Given the description of an element on the screen output the (x, y) to click on. 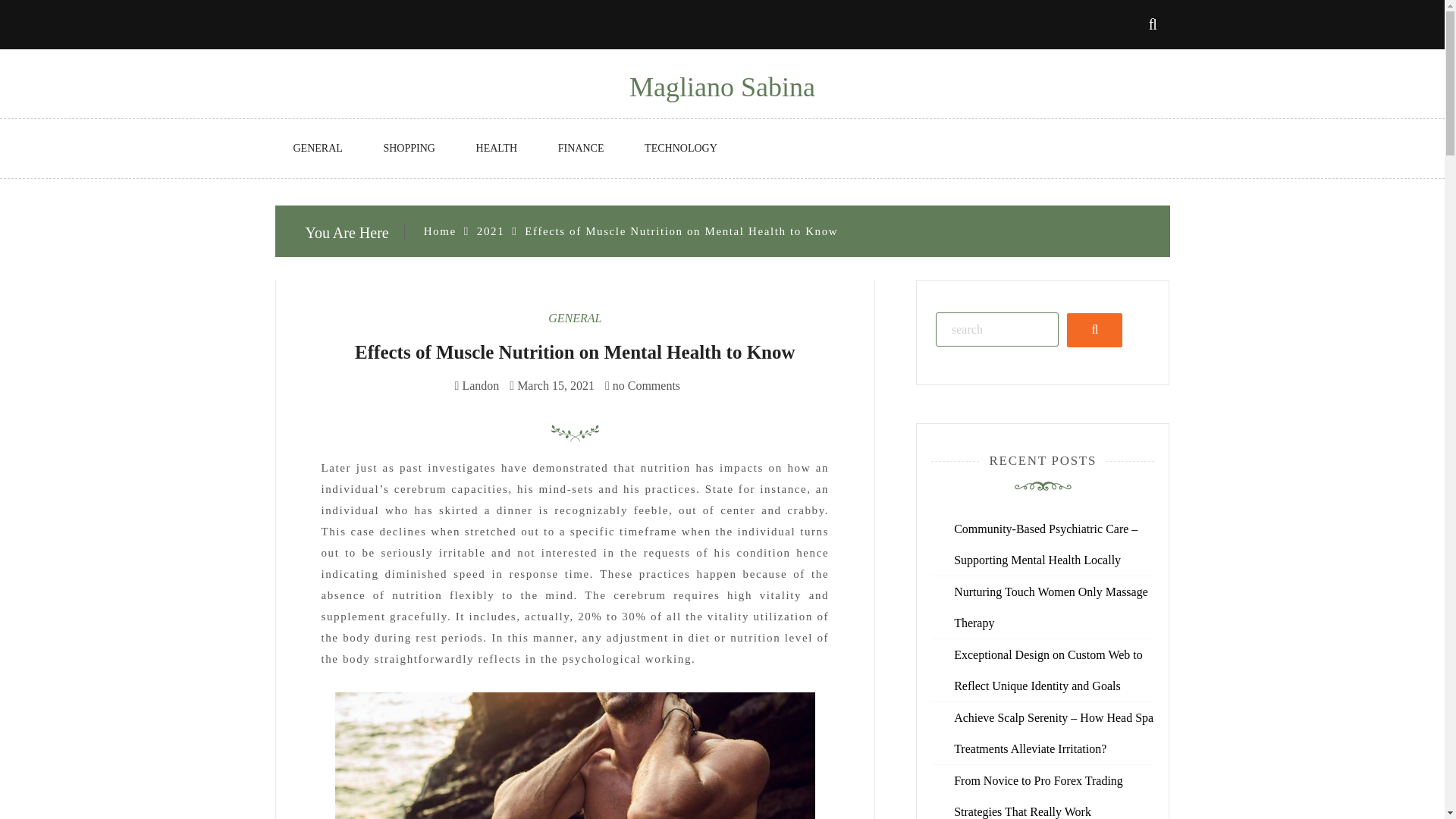
From Novice to Pro Forex Trading Strategies That Really Work (1037, 795)
GENERAL (574, 318)
SHOPPING (408, 148)
Posts by Landon (480, 385)
TECHNOLOGY (680, 148)
March 15, 2021 (555, 385)
HEALTH (496, 148)
Magliano Sabina (721, 87)
Search (1094, 329)
FINANCE (581, 148)
